Given the description of an element on the screen output the (x, y) to click on. 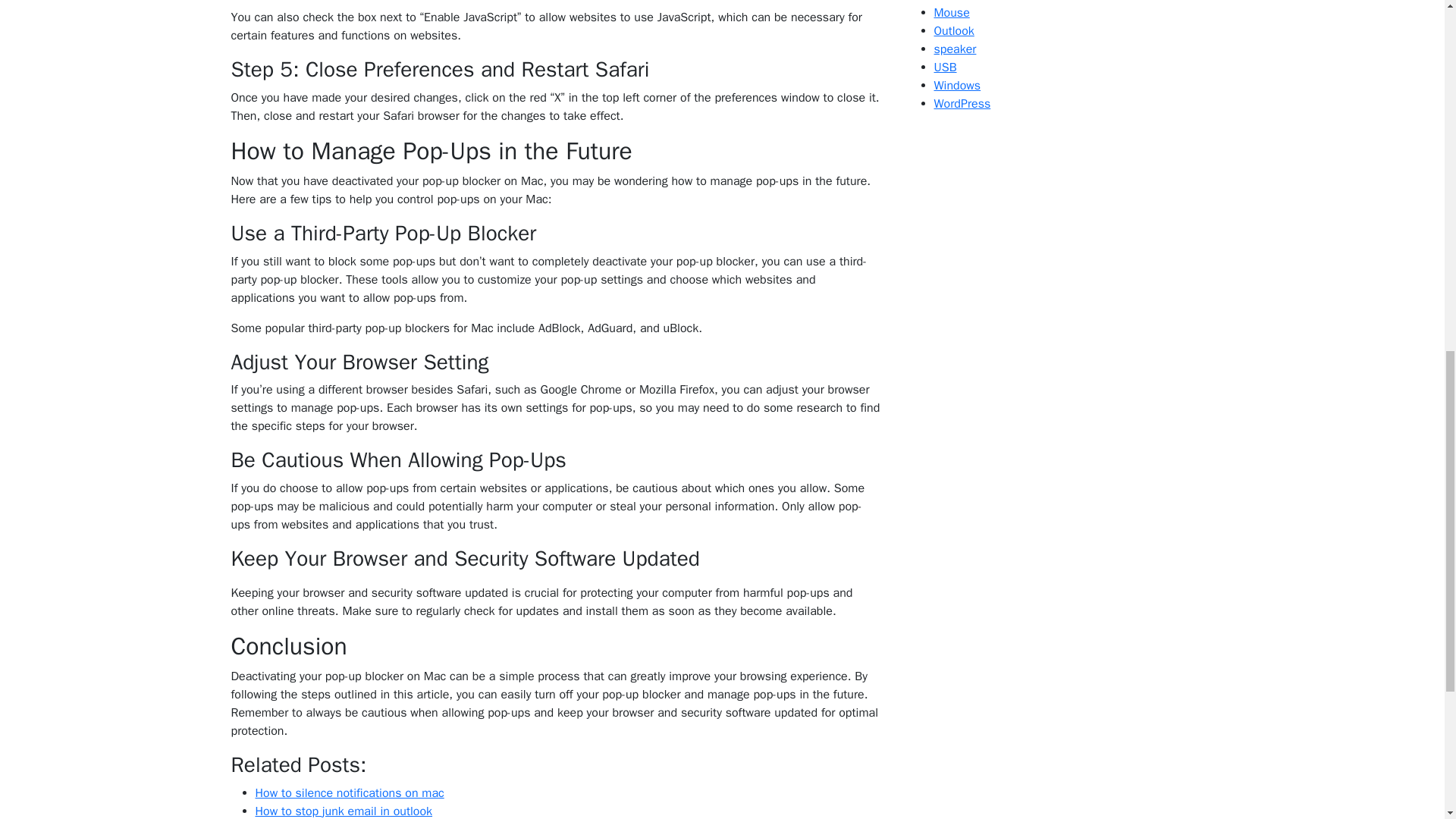
speaker (955, 48)
Outlook (954, 30)
Mouse (951, 12)
How to stop junk email in outlook (343, 811)
Monitor (954, 1)
How to silence notifications on mac (349, 792)
